Given the description of an element on the screen output the (x, y) to click on. 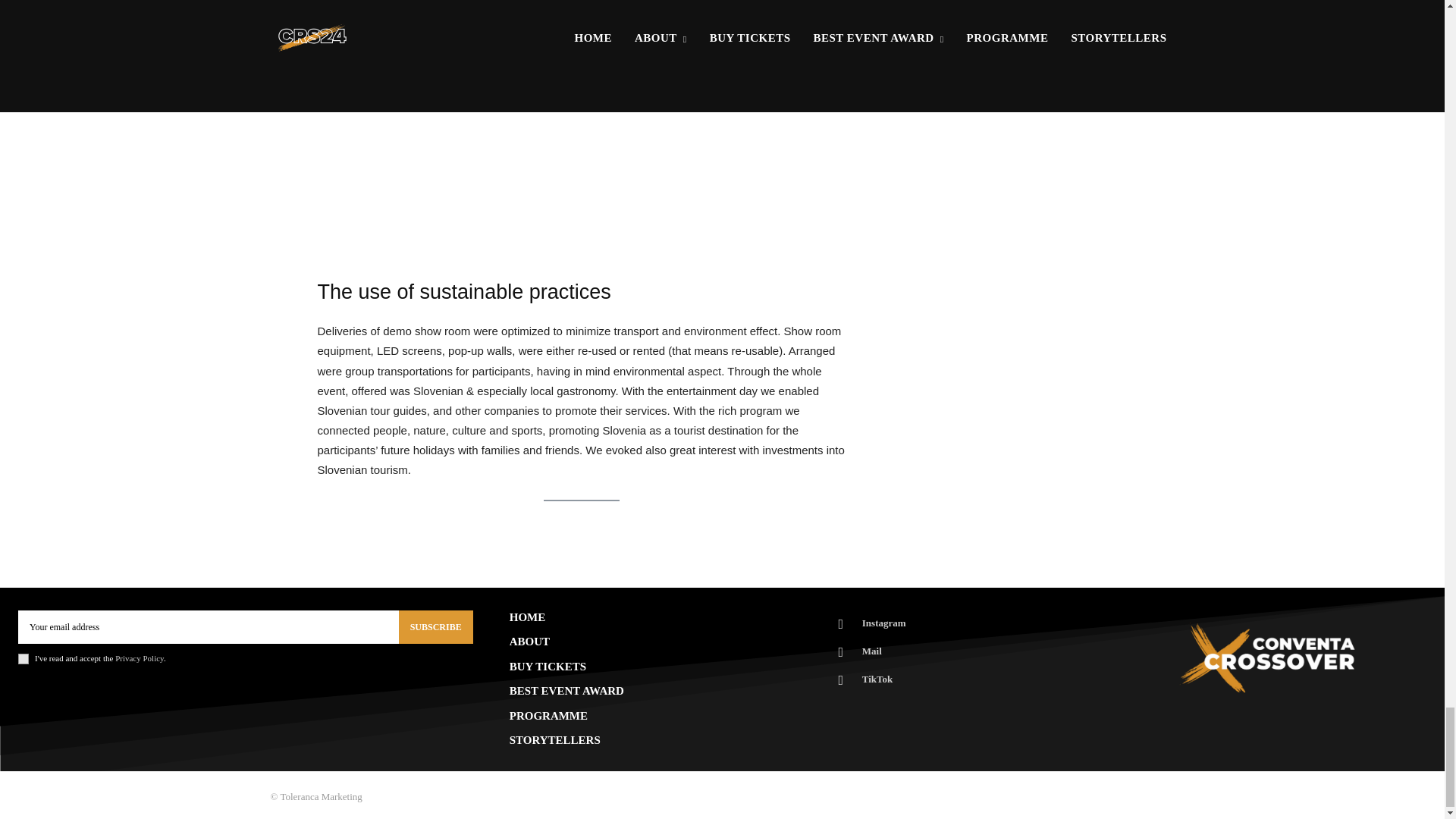
Mail (840, 651)
TikTok (840, 679)
Instagram (840, 624)
